Given the description of an element on the screen output the (x, y) to click on. 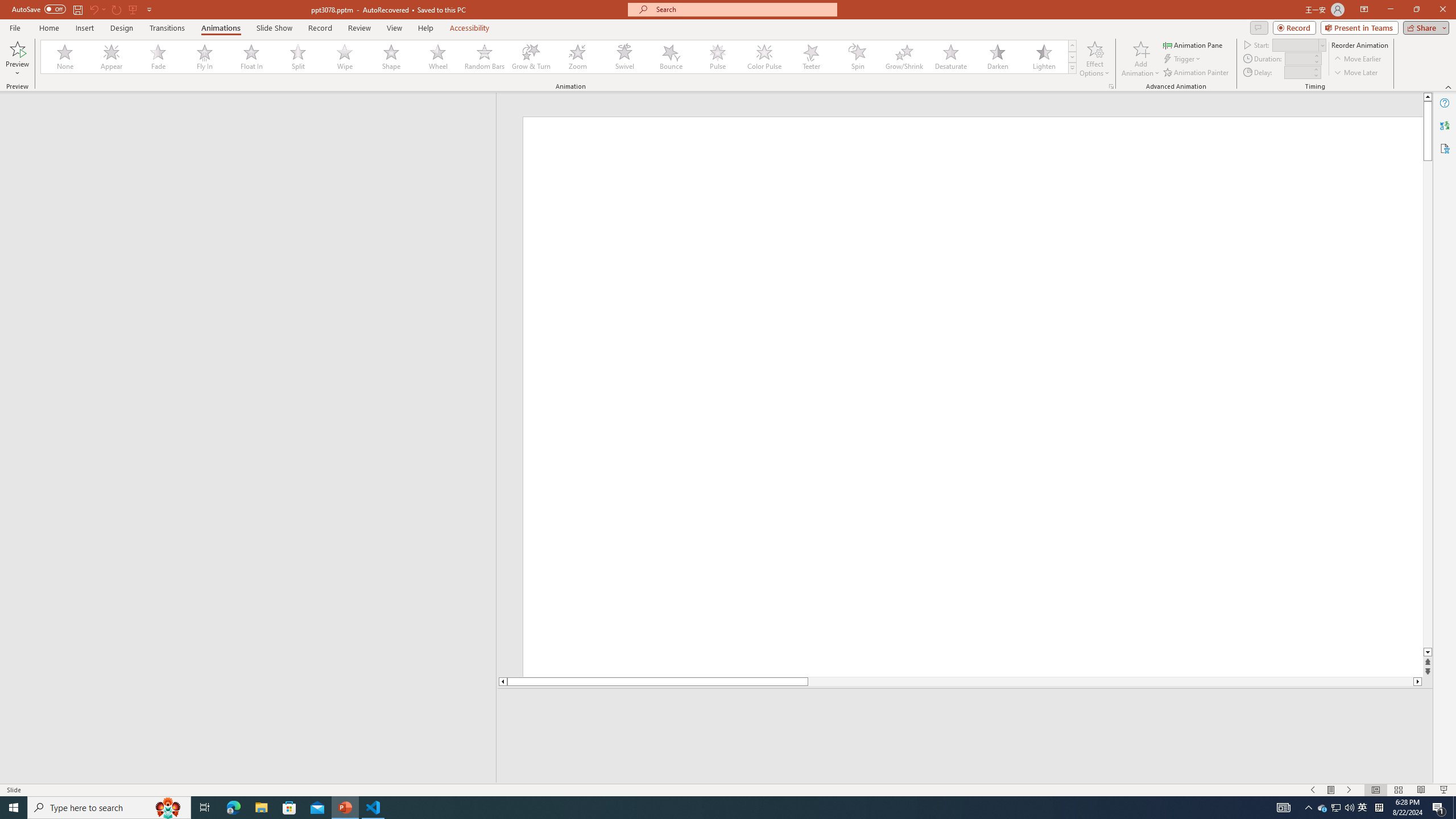
Swivel (624, 56)
Animation Pane (1193, 44)
Teeter (810, 56)
Less (1315, 75)
None (65, 56)
Effect Options (1094, 58)
Wheel (437, 56)
Bounce (670, 56)
Split (298, 56)
